Given the description of an element on the screen output the (x, y) to click on. 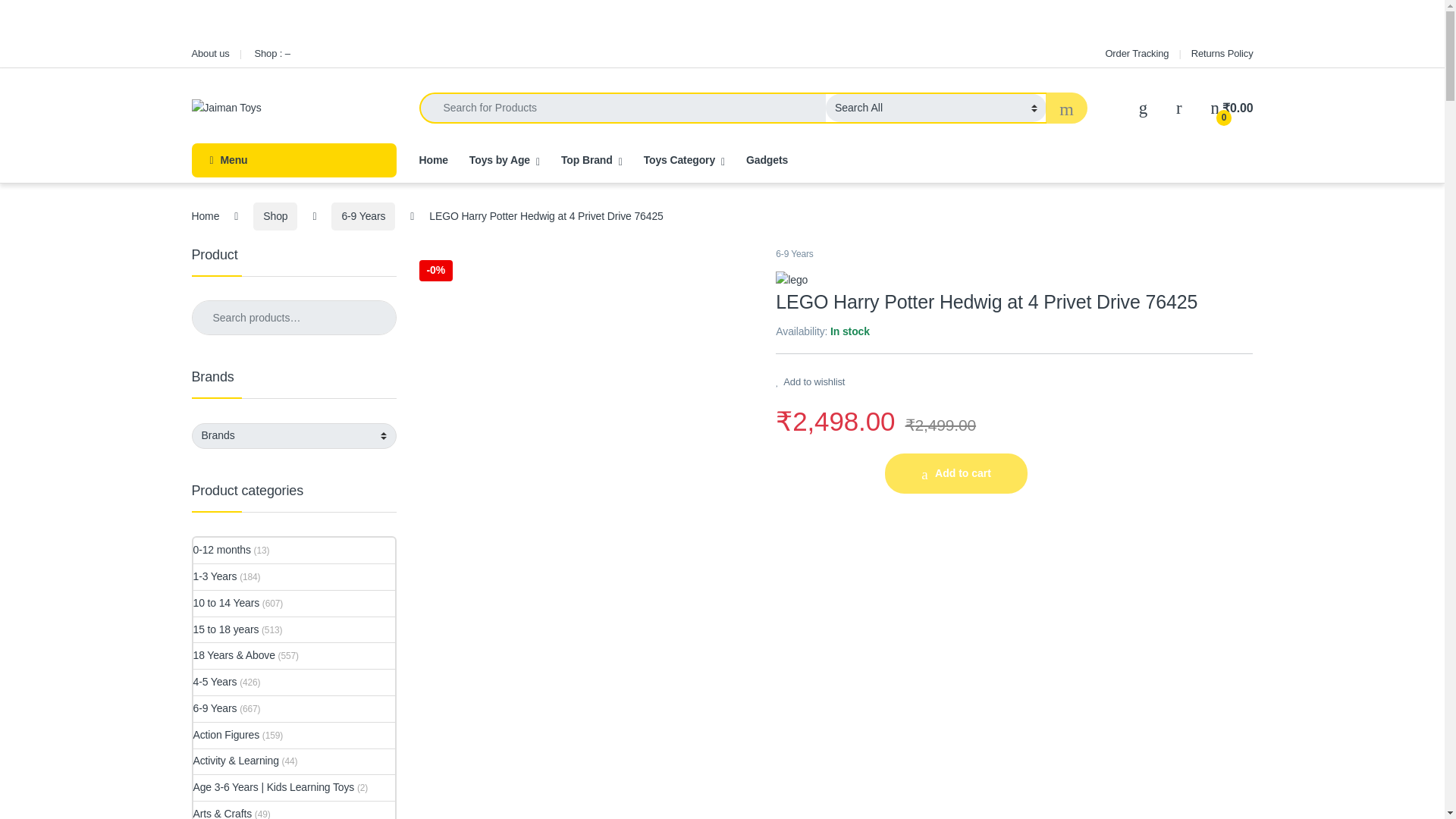
Order Tracking (1137, 53)
Returns Policy (1222, 53)
Menu (293, 160)
Returns Policy (1222, 53)
Shop : - (270, 53)
Order Tracking (1137, 53)
Toys by Age (504, 160)
About us (209, 53)
About us (209, 53)
